Given the description of an element on the screen output the (x, y) to click on. 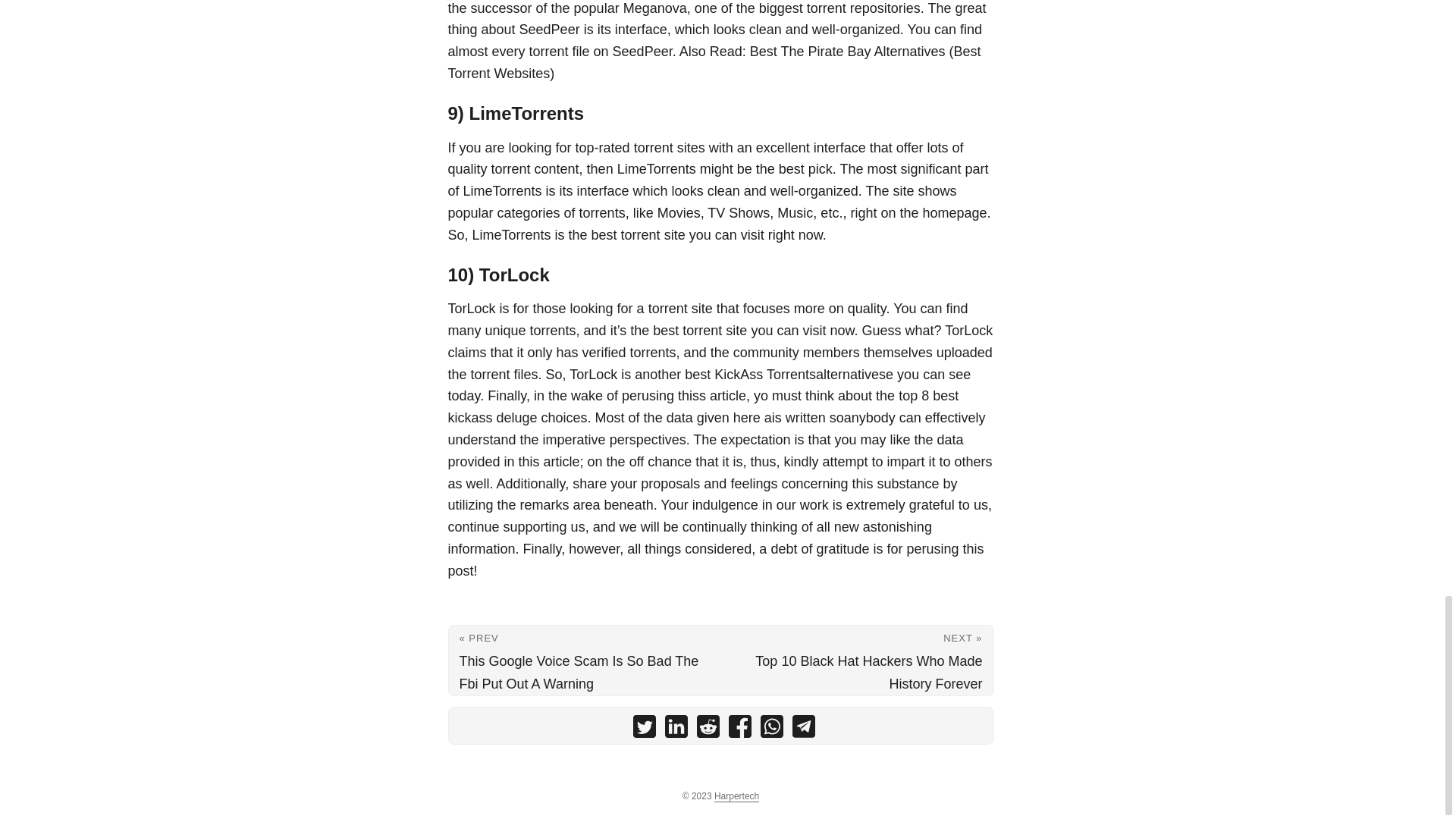
Harpertech (736, 796)
